Given the description of an element on the screen output the (x, y) to click on. 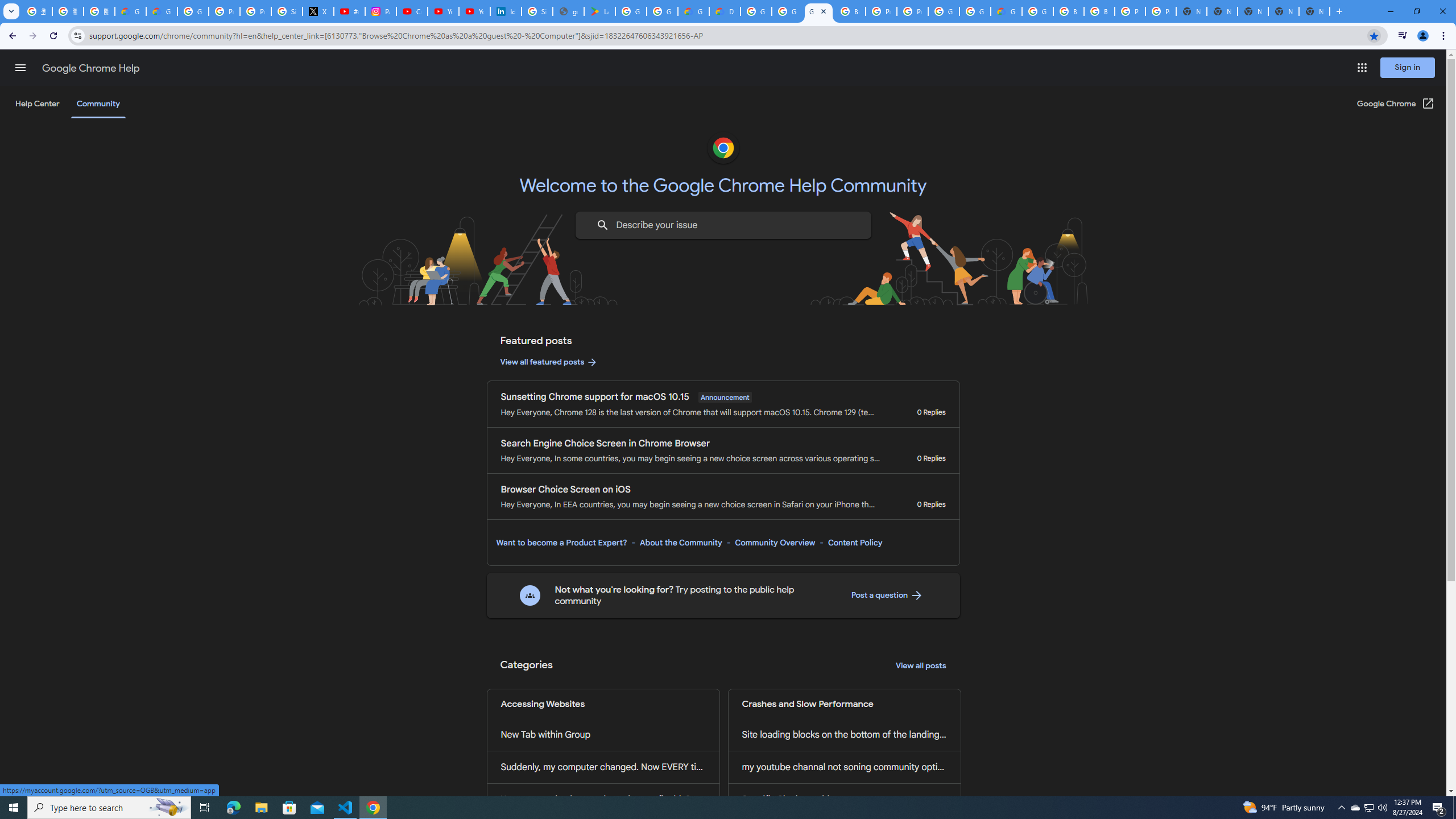
Google Chrome Help (90, 68)
New Tab (1314, 11)
Google Cloud Platform (756, 11)
Google Cloud Privacy Notice (130, 11)
